Given the description of an element on the screen output the (x, y) to click on. 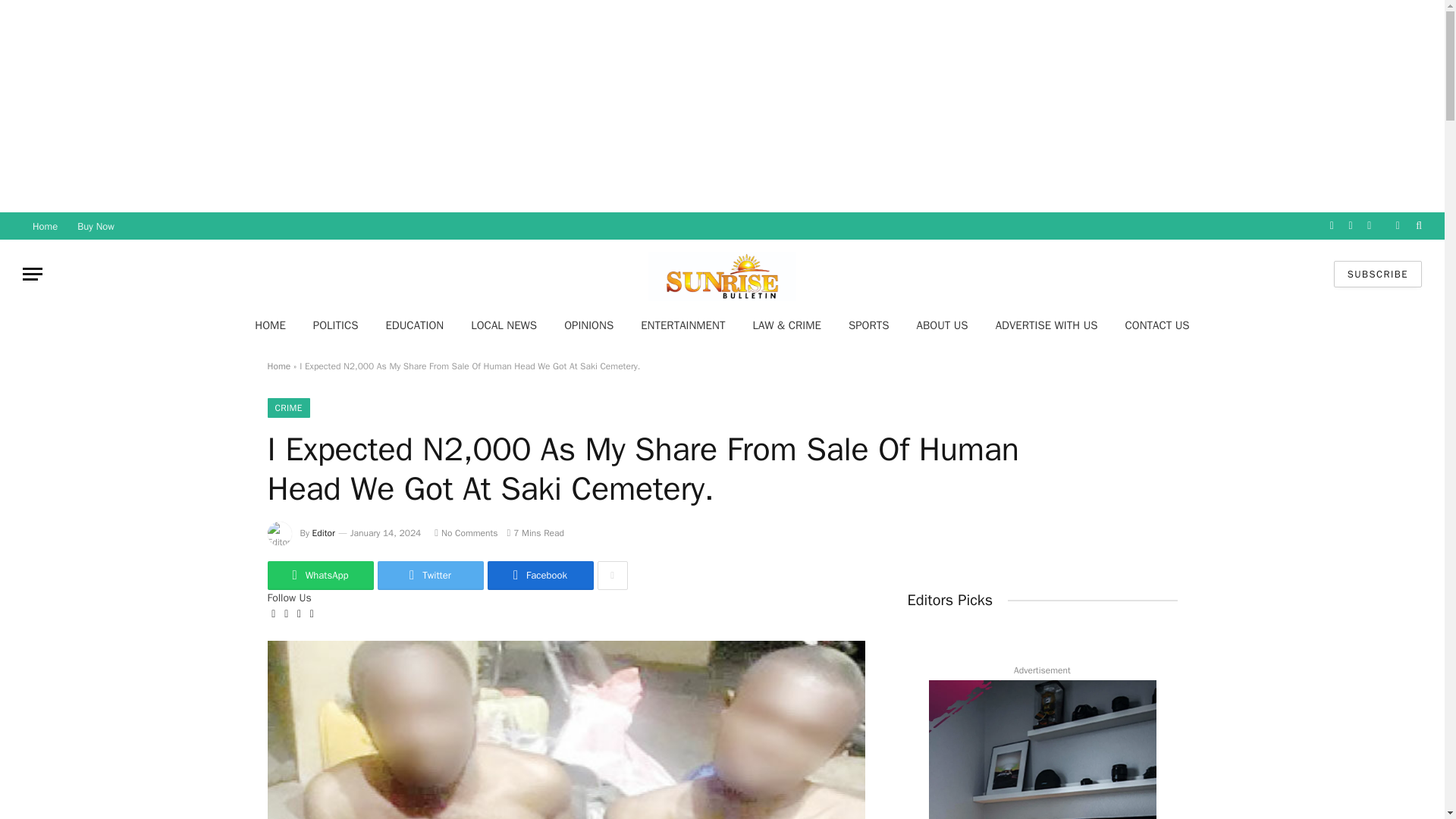
OPINIONS (588, 324)
SUBSCRIBE (1377, 274)
Home (44, 225)
Switch to Dark Design - easier on eyes. (1397, 225)
CONTACT US (1158, 324)
ENTERTAINMENT (682, 324)
Search (1417, 225)
Instagram (1368, 225)
Home (277, 366)
Buy Now (94, 225)
LOCAL NEWS (503, 324)
SPORTS (868, 324)
HOME (269, 324)
